Given the description of an element on the screen output the (x, y) to click on. 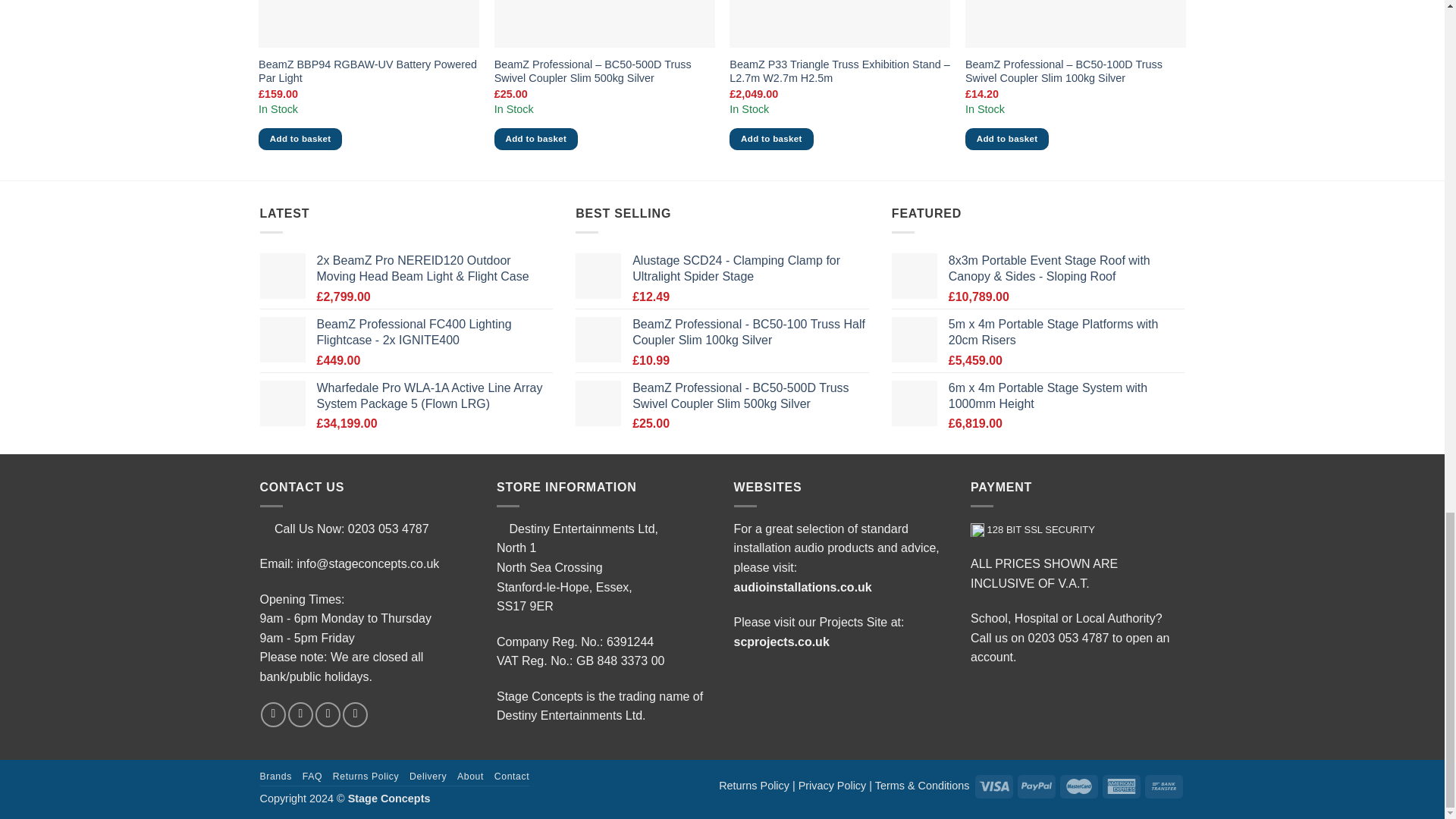
Send us an email (300, 714)
Follow on LinkedIn (355, 714)
Call us (327, 714)
Follow on Facebook (272, 714)
